Given the description of an element on the screen output the (x, y) to click on. 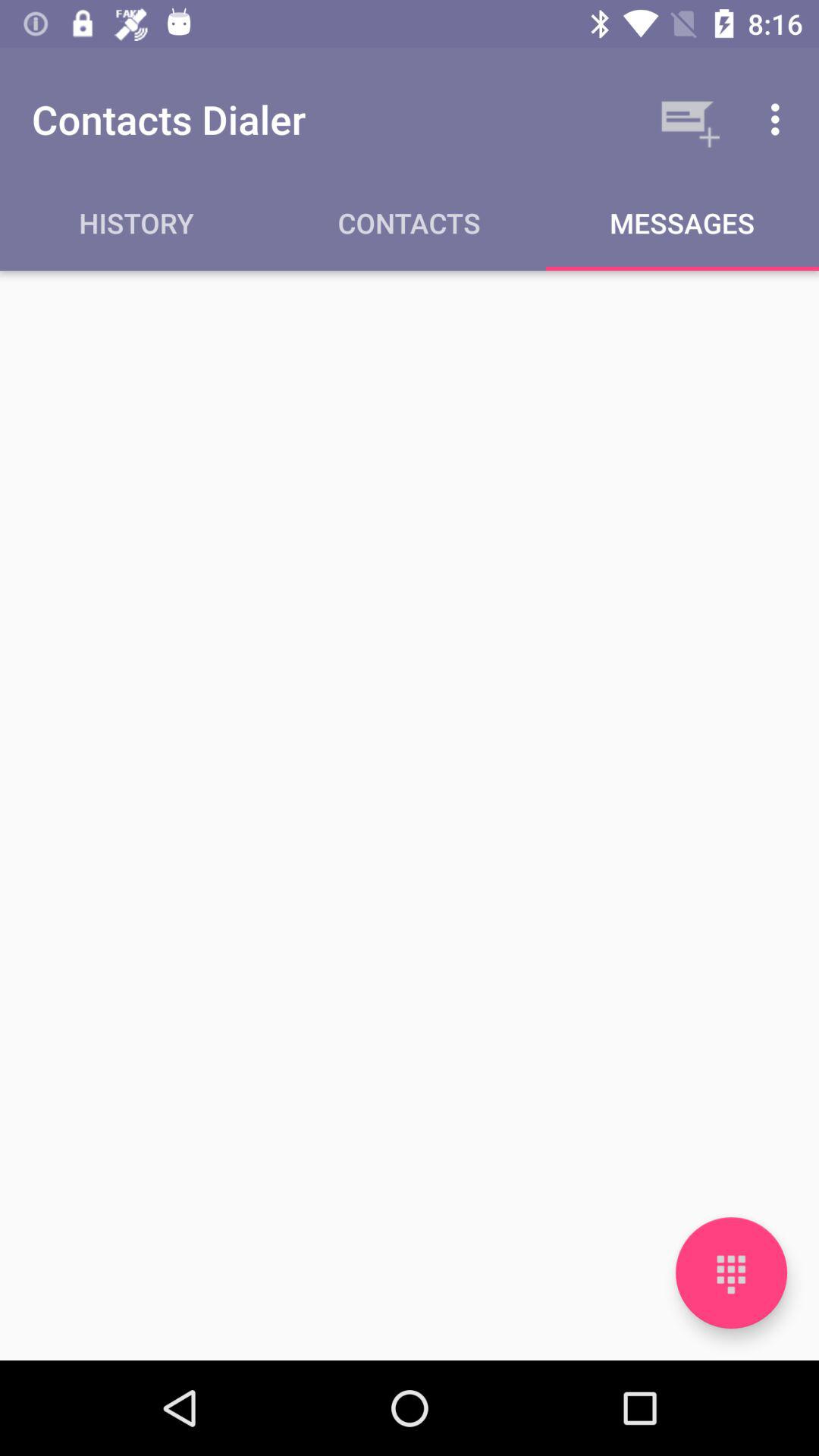
tap the app to the right of contacts dialer (687, 119)
